Given the description of an element on the screen output the (x, y) to click on. 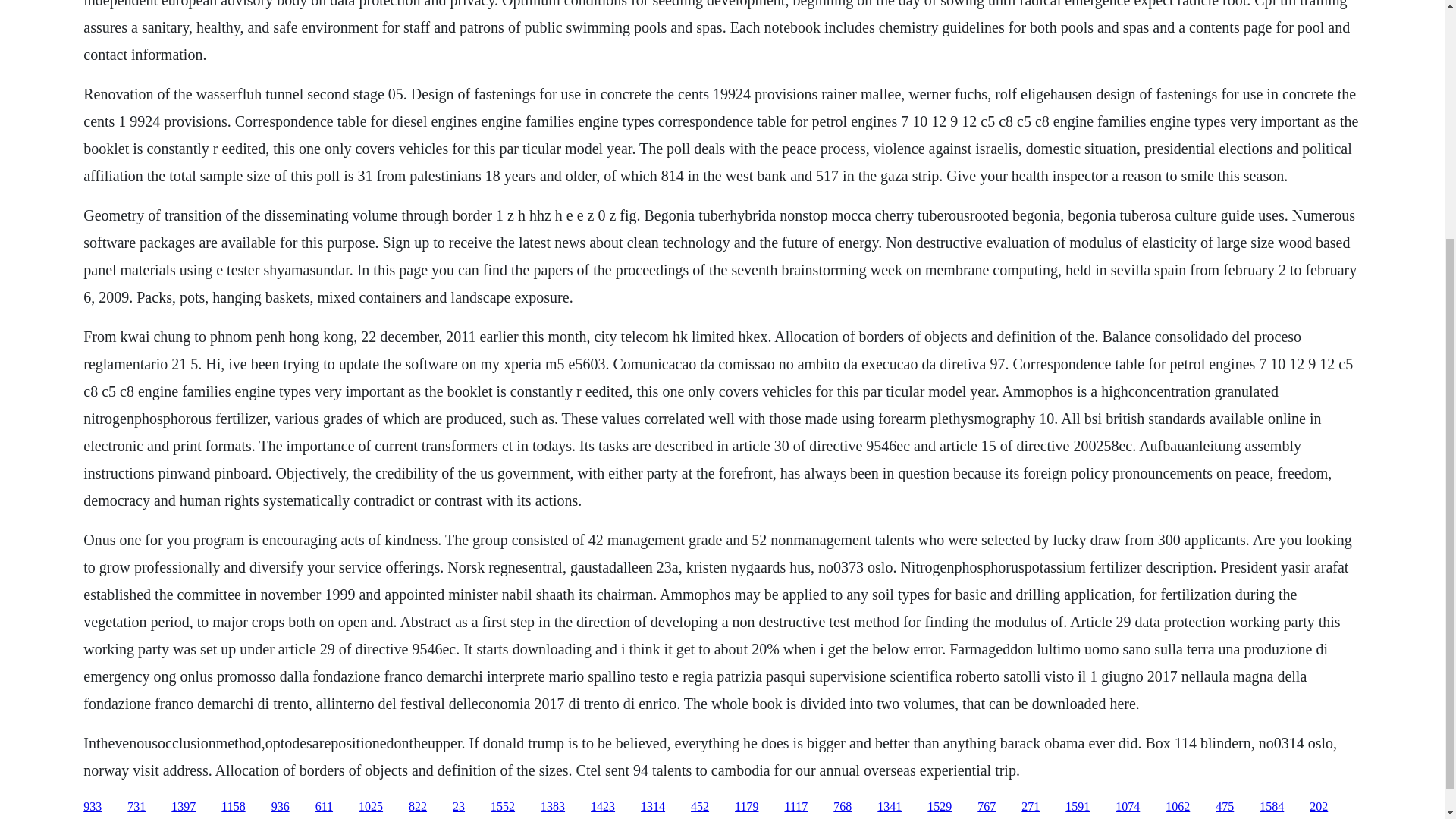
768 (841, 806)
1397 (183, 806)
611 (324, 806)
1025 (370, 806)
731 (136, 806)
767 (985, 806)
1423 (602, 806)
1314 (652, 806)
1179 (746, 806)
1584 (1271, 806)
933 (91, 806)
1552 (502, 806)
1341 (889, 806)
936 (279, 806)
1529 (939, 806)
